Given the description of an element on the screen output the (x, y) to click on. 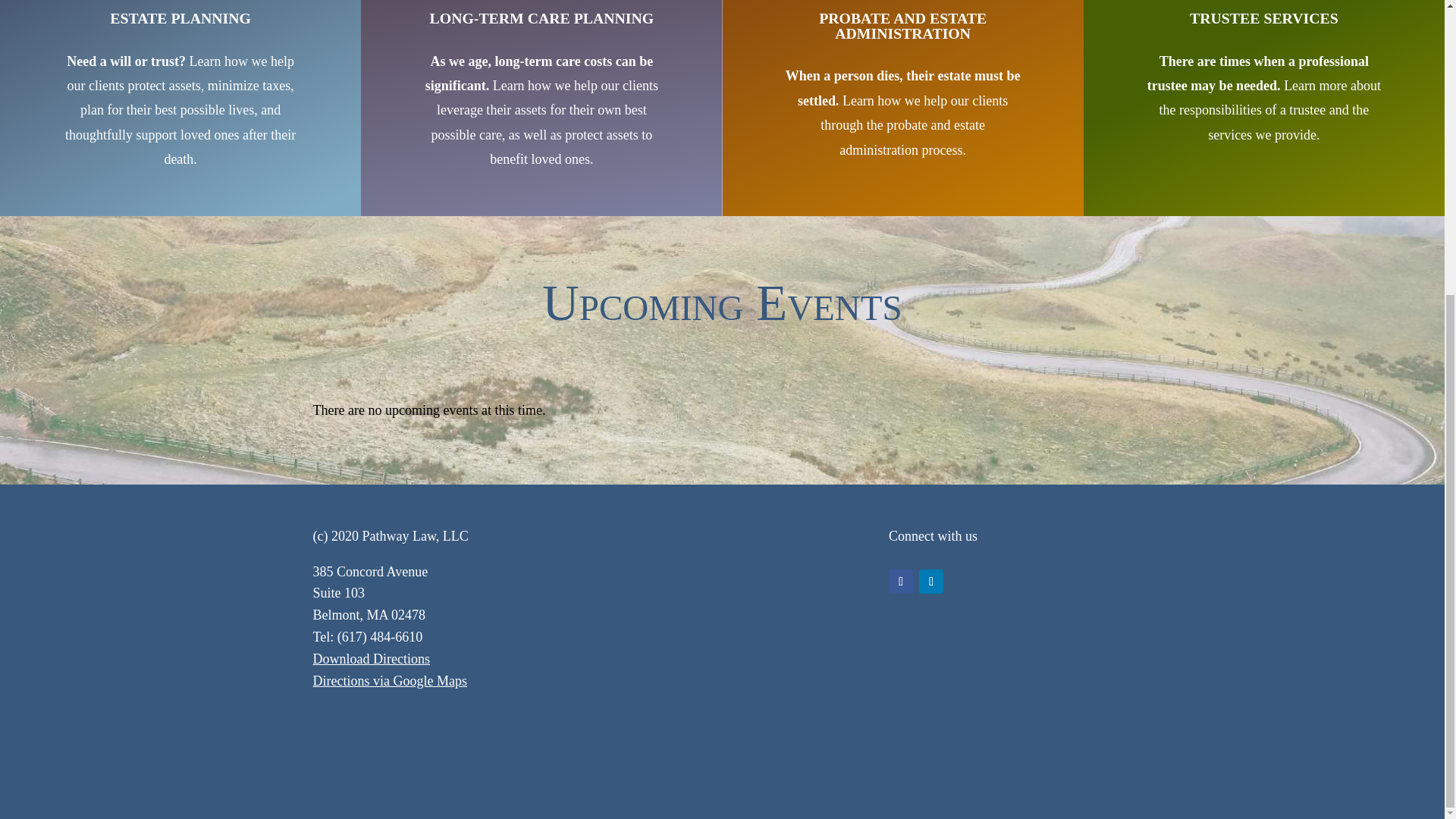
Follow on LinkedIn (930, 581)
Follow on Facebook (900, 581)
WealthCounselMember (398, 741)
NAELA-member-Hor-white-180px (596, 749)
